Given the description of an element on the screen output the (x, y) to click on. 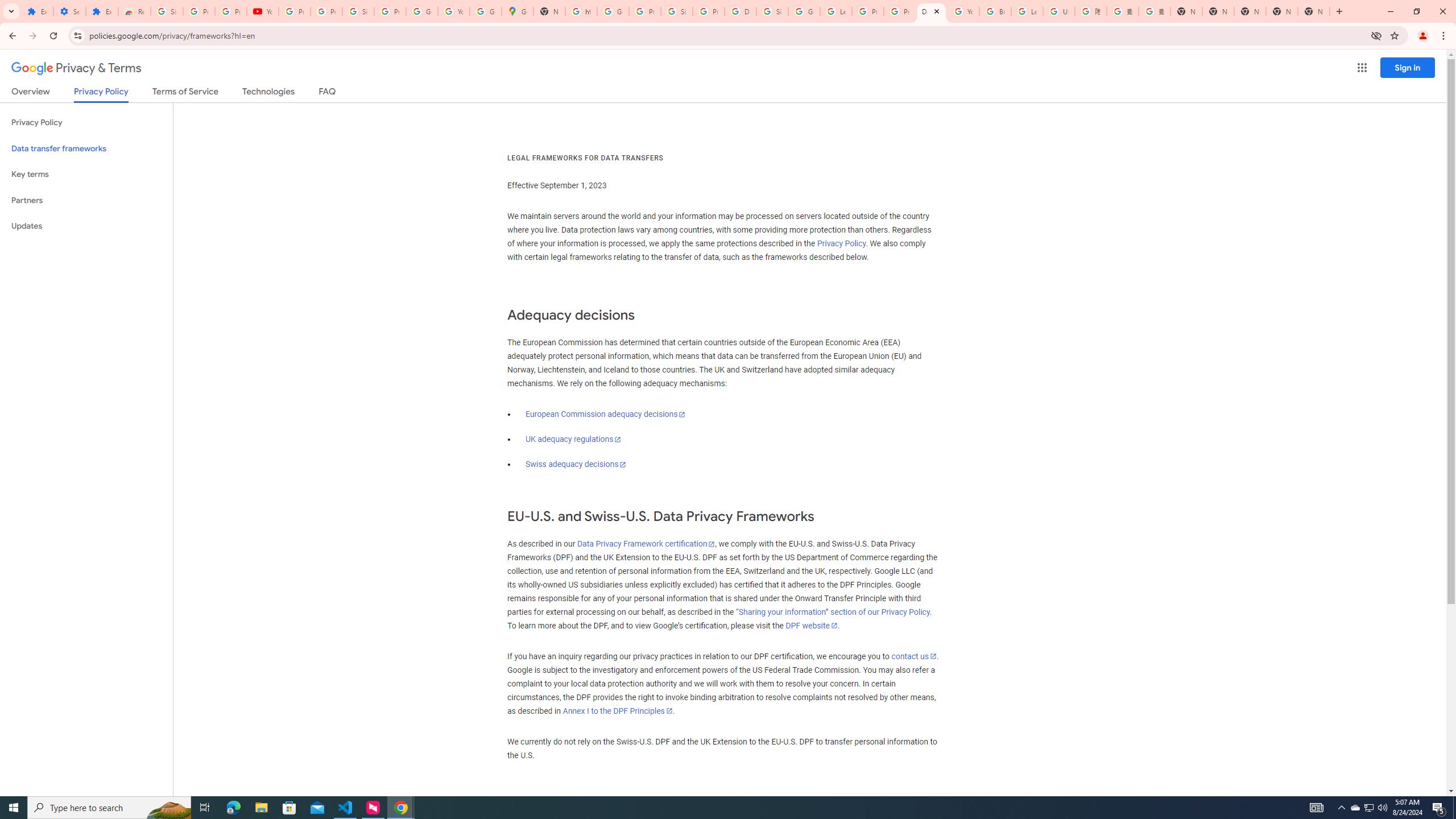
UK adequacy regulations (573, 439)
contact us (913, 656)
New Tab (1185, 11)
